Given the description of an element on the screen output the (x, y) to click on. 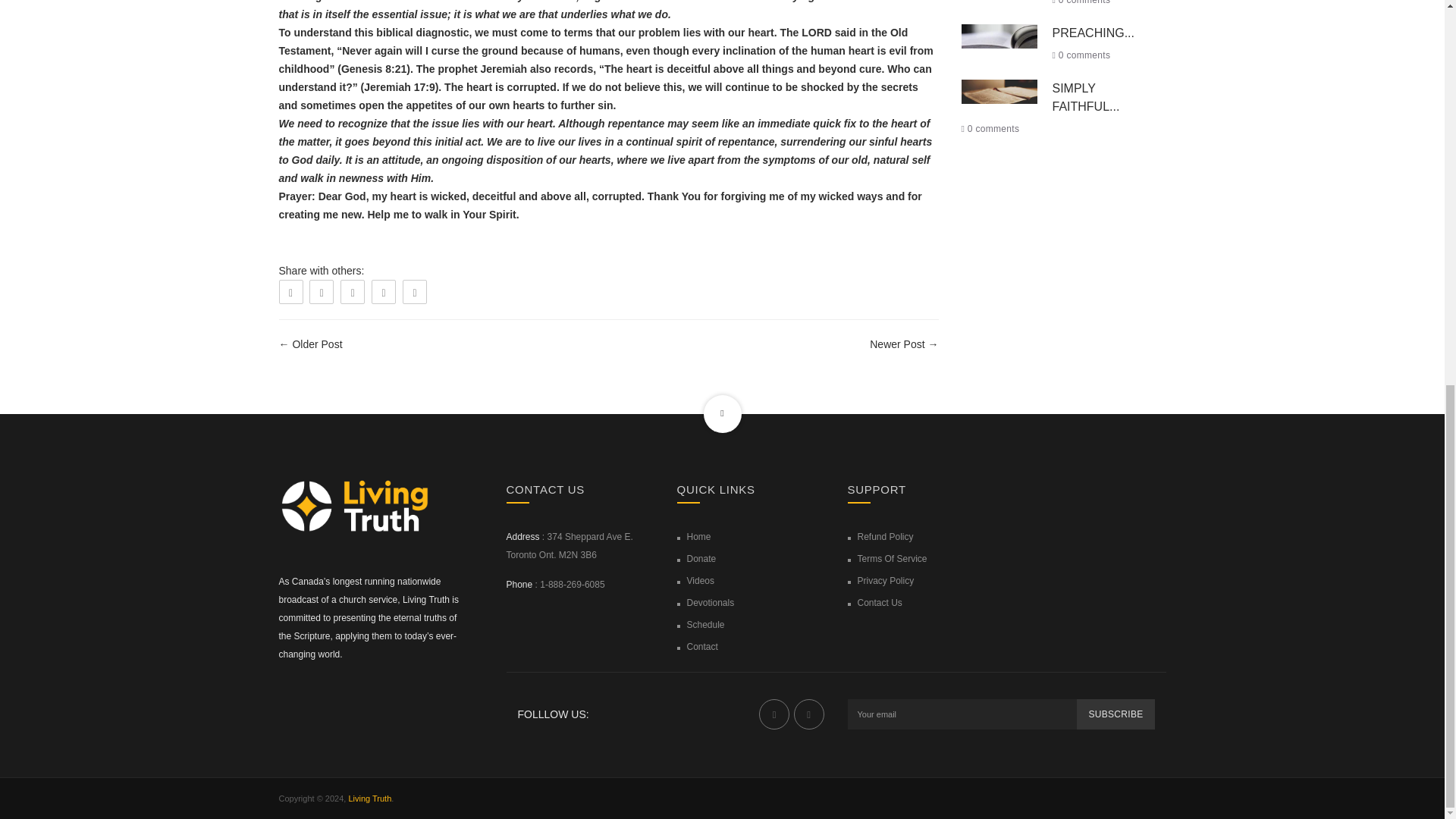
Living Truth on YouTube (808, 714)
Donate (701, 558)
Home (699, 536)
PREACHING... (1093, 32)
Older Post (317, 344)
Living Truth on Facebook (773, 714)
SIMPLY FAITHFUL... (1085, 97)
Videos (700, 580)
Newer Post (896, 344)
